Given the description of an element on the screen output the (x, y) to click on. 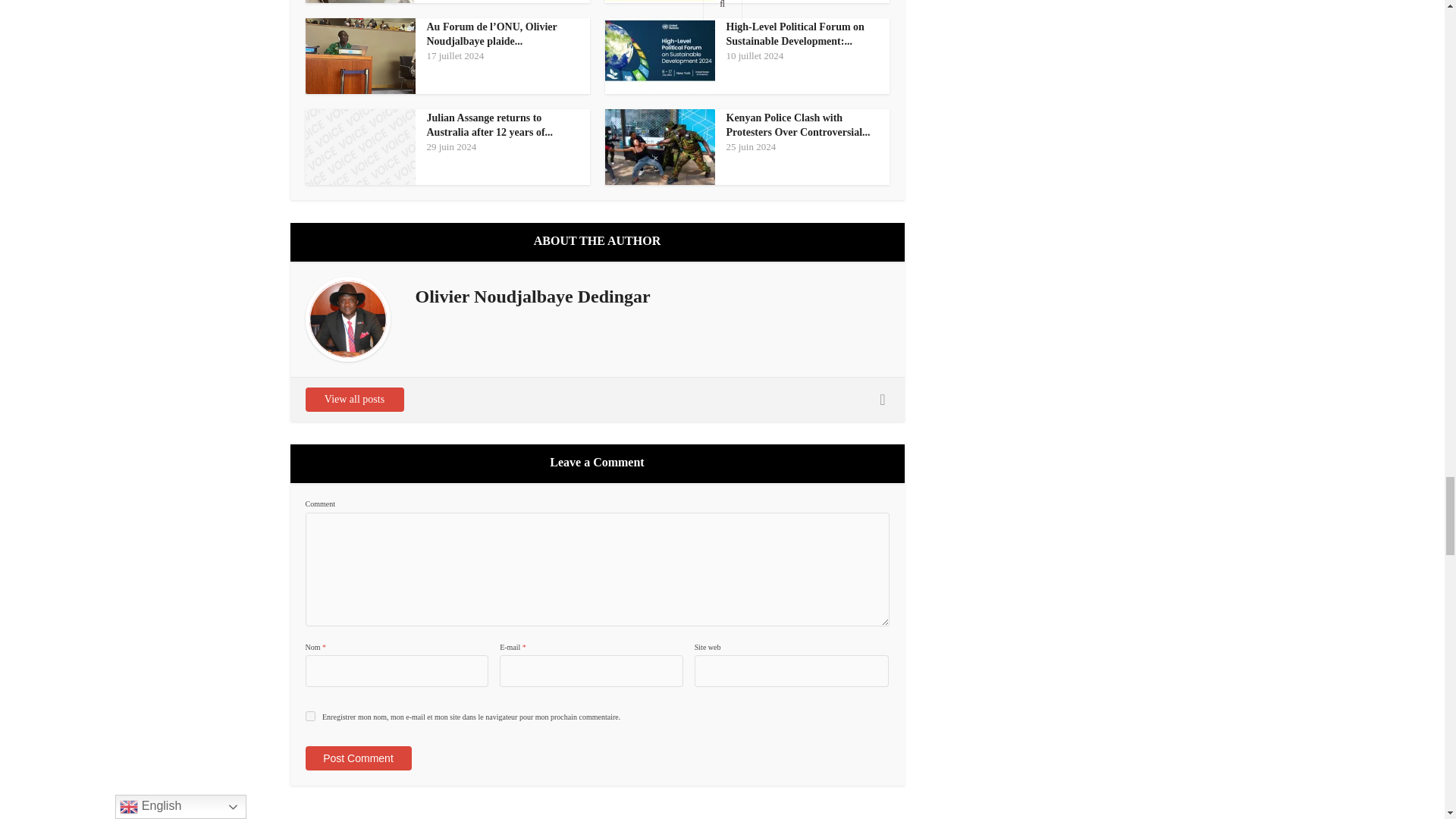
yes (309, 716)
Post Comment (357, 758)
